Given the description of an element on the screen output the (x, y) to click on. 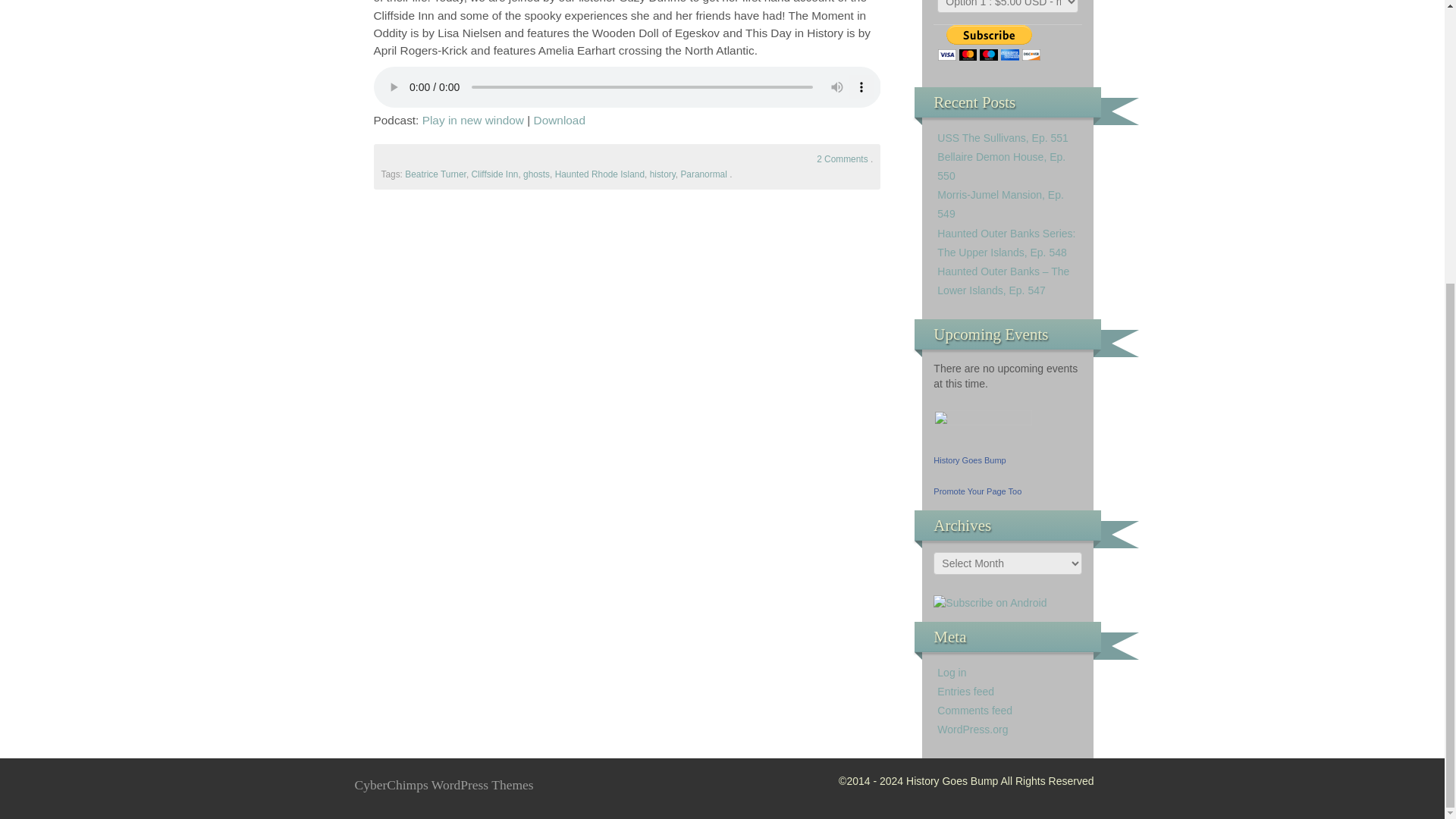
ghosts (536, 173)
Download (559, 119)
Download (559, 119)
Cliffside Inn (494, 173)
Haunted Outer Banks Series: The Upper Islands, Ep. 548 (1006, 242)
Play in new window (473, 119)
Morris-Jumel Mansion, Ep. 549 (1000, 204)
2 Comments (841, 158)
Paranormal (702, 173)
History Goes Bump (969, 460)
